Given the description of an element on the screen output the (x, y) to click on. 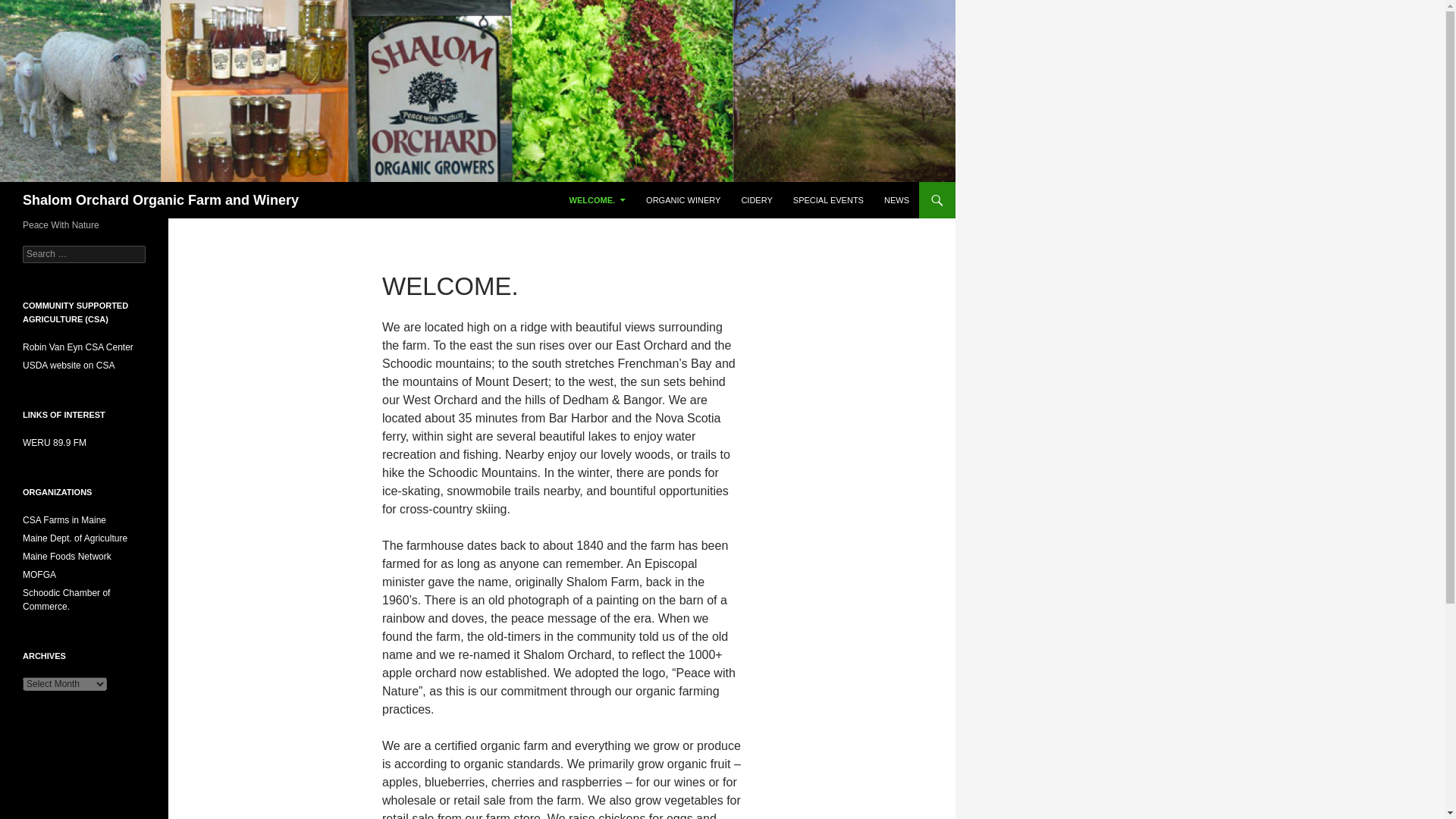
Schoodic Chamber of Commerce. (66, 599)
Get Real. Get Maine. (75, 538)
WERU 89.9 FM (54, 442)
MOFGA (39, 574)
ORGANIC WINERY (683, 199)
NEWS (896, 199)
Fresh From Field To Fork (67, 556)
CIDERY (756, 199)
USDA website on CSA (69, 365)
Robin Van Eyn CSA Center (78, 347)
CSA Farms in Maine (64, 520)
WELCOME. (597, 199)
Maine Organic Farmers and Gardeners Association (39, 574)
Maine Dept. of Agriculture (75, 538)
Maine Foods Network (67, 556)
